Given the description of an element on the screen output the (x, y) to click on. 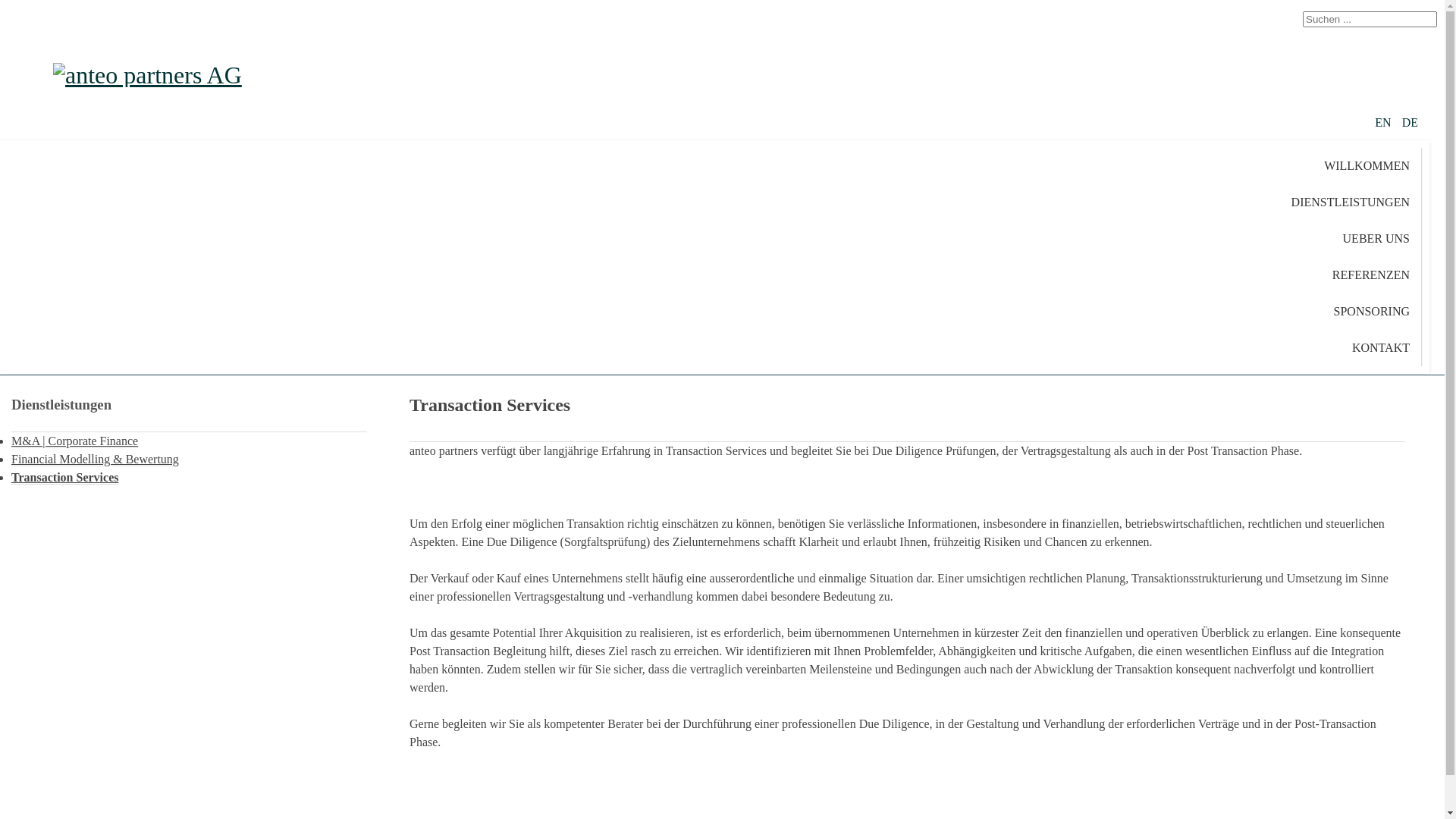
Financial Modelling & Bewertung Element type: text (94, 459)
UEBER UNS Element type: text (1376, 238)
EN Element type: text (1383, 122)
KONTAKT Element type: text (1380, 347)
WILLKOMMEN Element type: text (1366, 165)
SPONSORING Element type: text (1371, 311)
Transaction Services Element type: text (64, 477)
DE Element type: text (1410, 122)
DIENSTLEISTUNGEN Element type: text (1350, 202)
M&A | Corporate Finance Element type: text (74, 441)
REFERENZEN Element type: text (1371, 275)
